Given the description of an element on the screen output the (x, y) to click on. 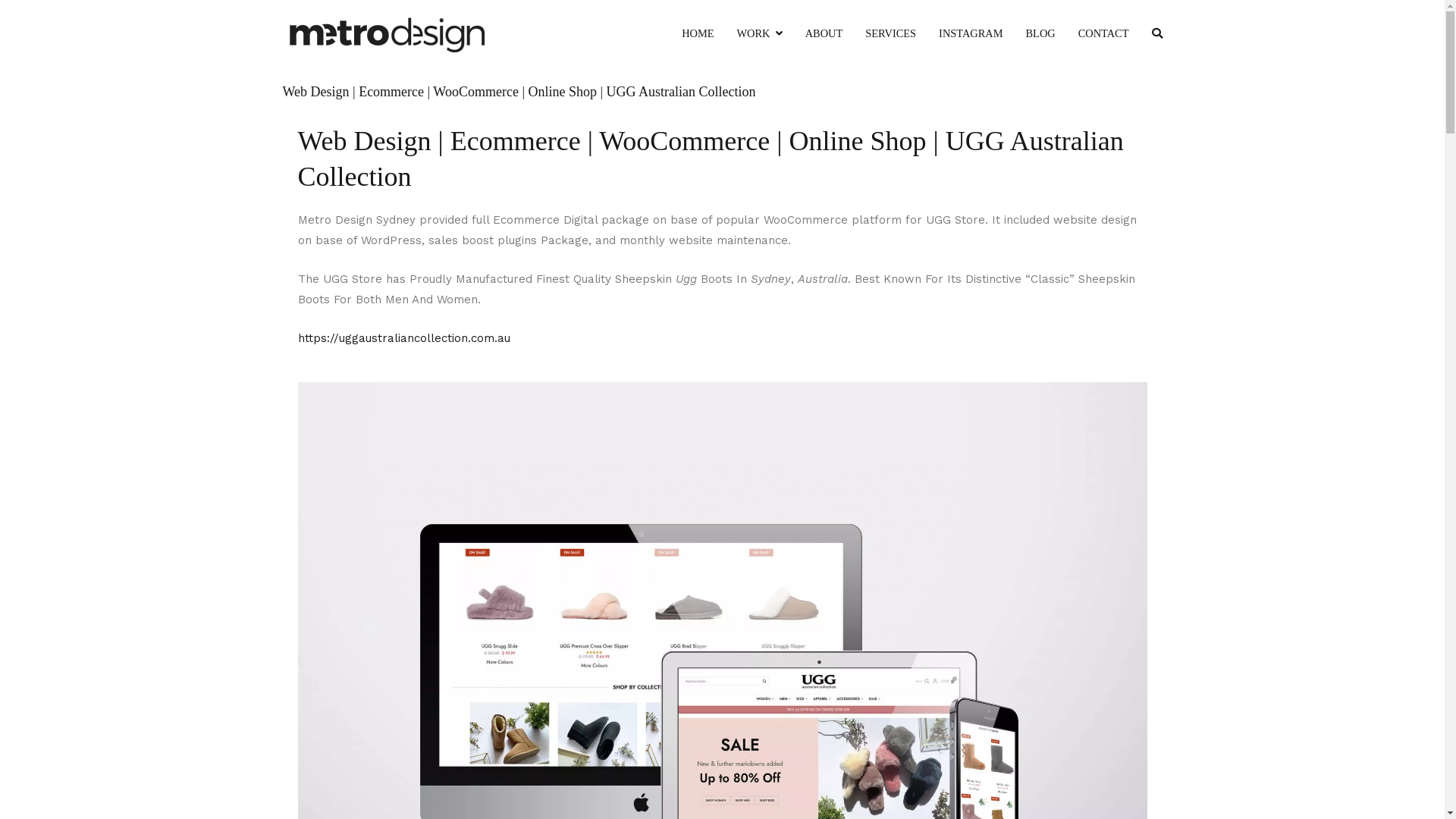
CONTACT Element type: text (1103, 33)
BLOG Element type: text (1039, 33)
Metro Design Sydney | Clean Graphic and Web Design Element type: text (679, 44)
INSTAGRAM Element type: text (970, 33)
HOME Element type: text (697, 33)
https://uggaustraliancollection.com.au Element type: text (403, 338)
SERVICES Element type: text (890, 33)
ABOUT Element type: text (824, 33)
WORK Element type: text (759, 33)
